Given the description of an element on the screen output the (x, y) to click on. 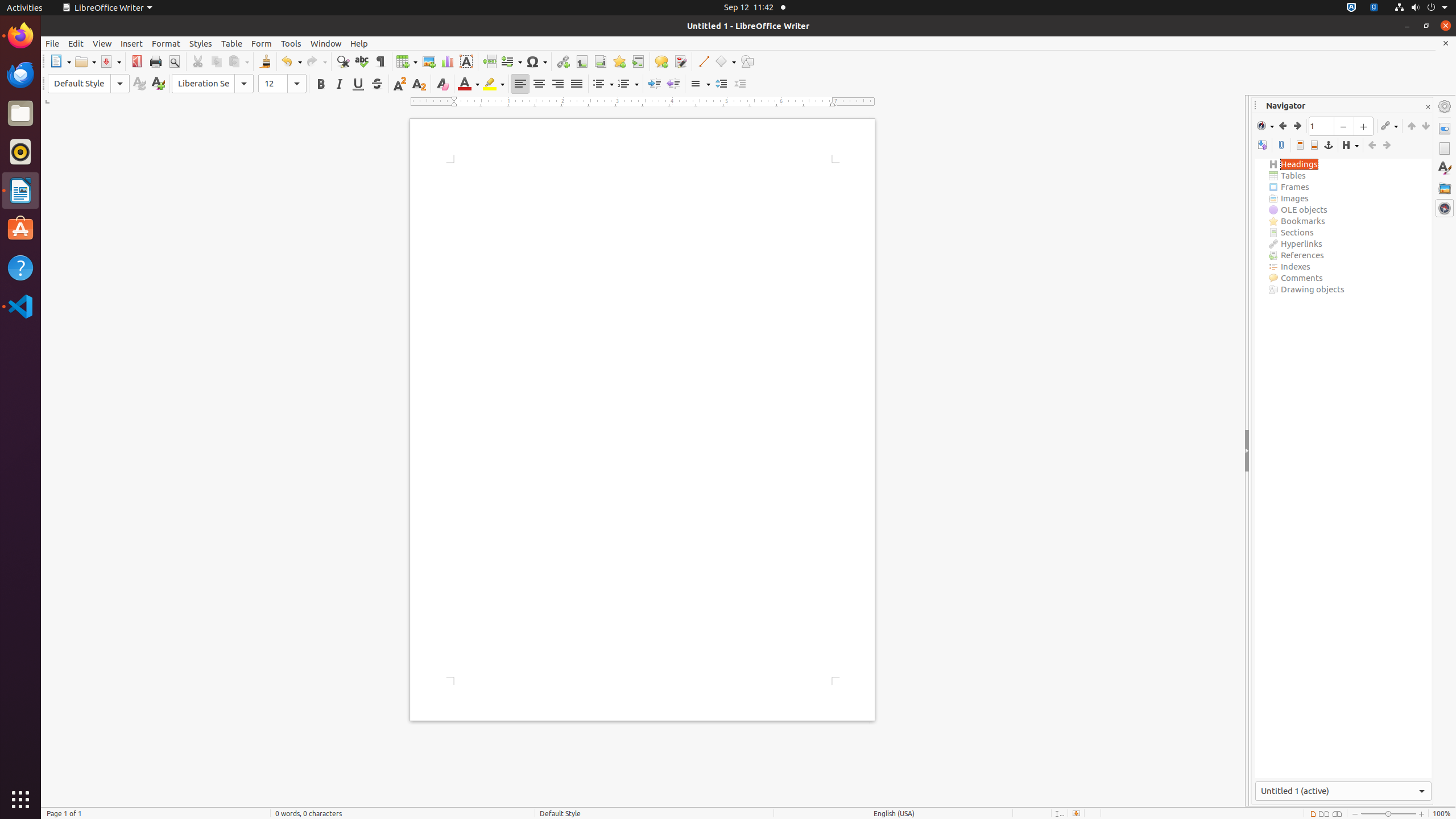
Justified Element type: toggle-button (576, 83)
Subscript Element type: toggle-button (418, 83)
Field Element type: push-button (510, 61)
Underline Element type: push-button (357, 83)
Format Element type: menu (165, 43)
